Given the description of an element on the screen output the (x, y) to click on. 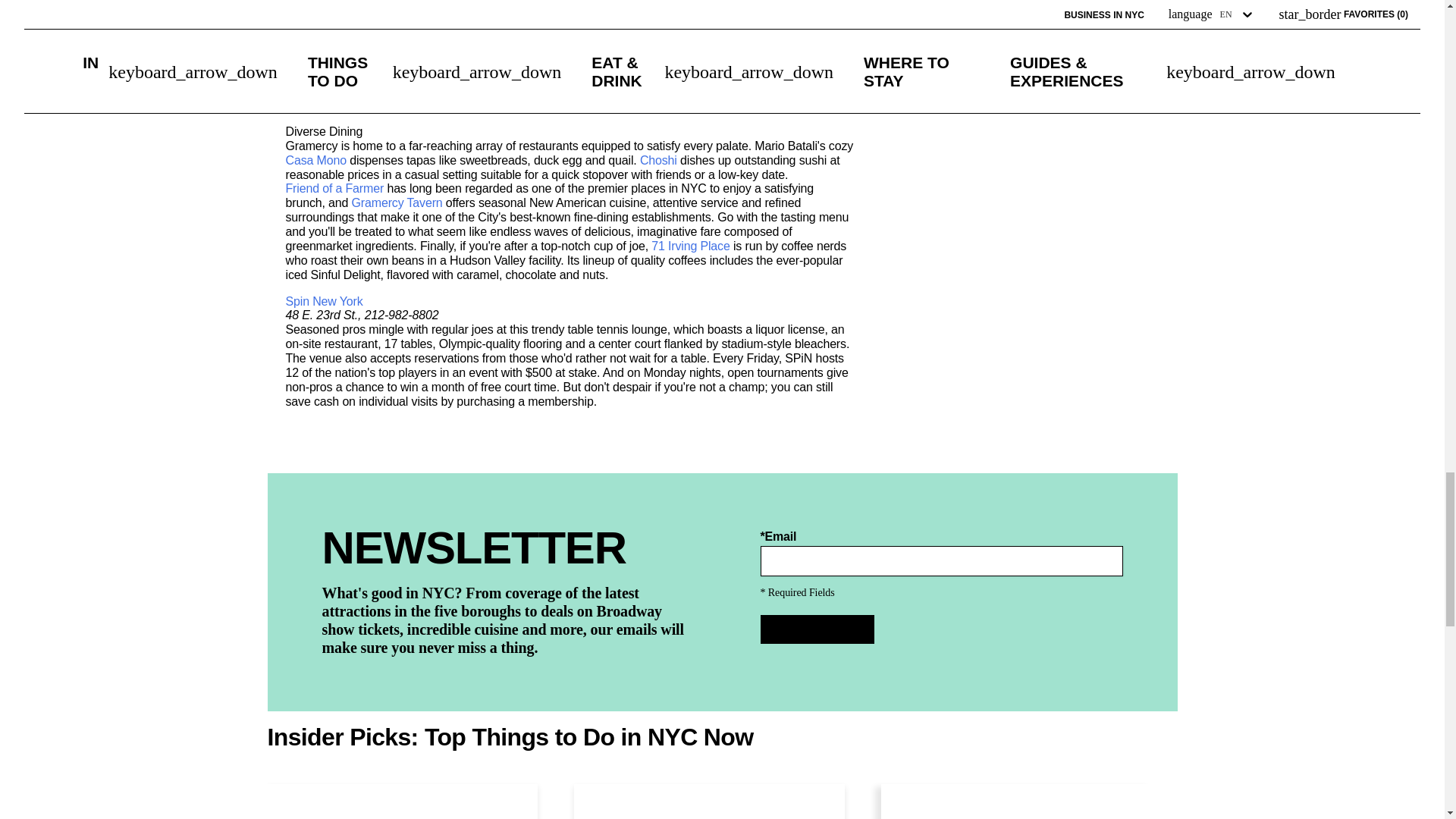
Casa Mono (315, 160)
71 Irving Place (689, 246)
Friend of a Farmer (334, 188)
Choshi (658, 160)
Gramercy Tavern (397, 203)
Spin New York (323, 301)
